Given the description of an element on the screen output the (x, y) to click on. 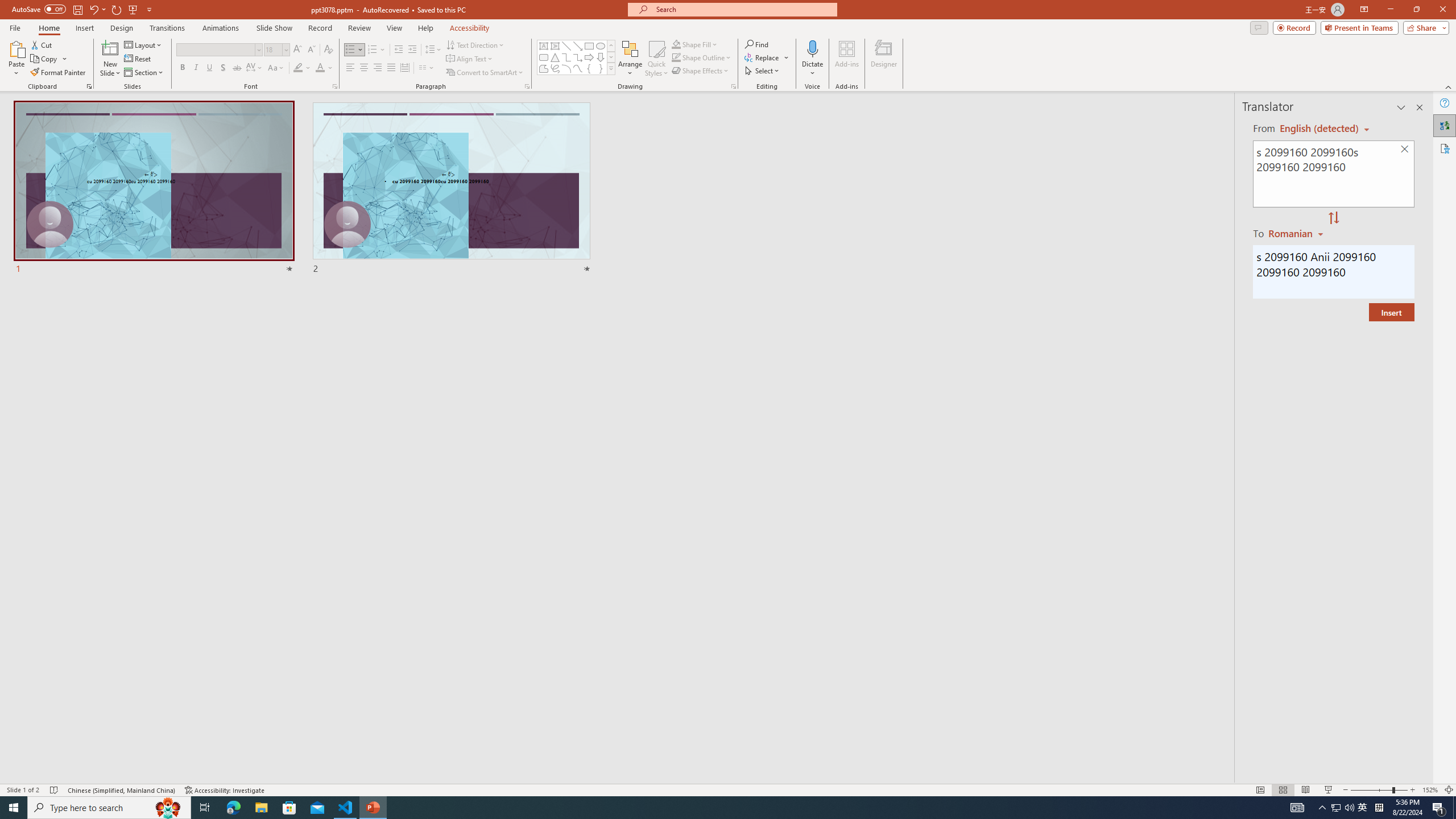
Czech (detected) (1319, 128)
